Given the description of an element on the screen output the (x, y) to click on. 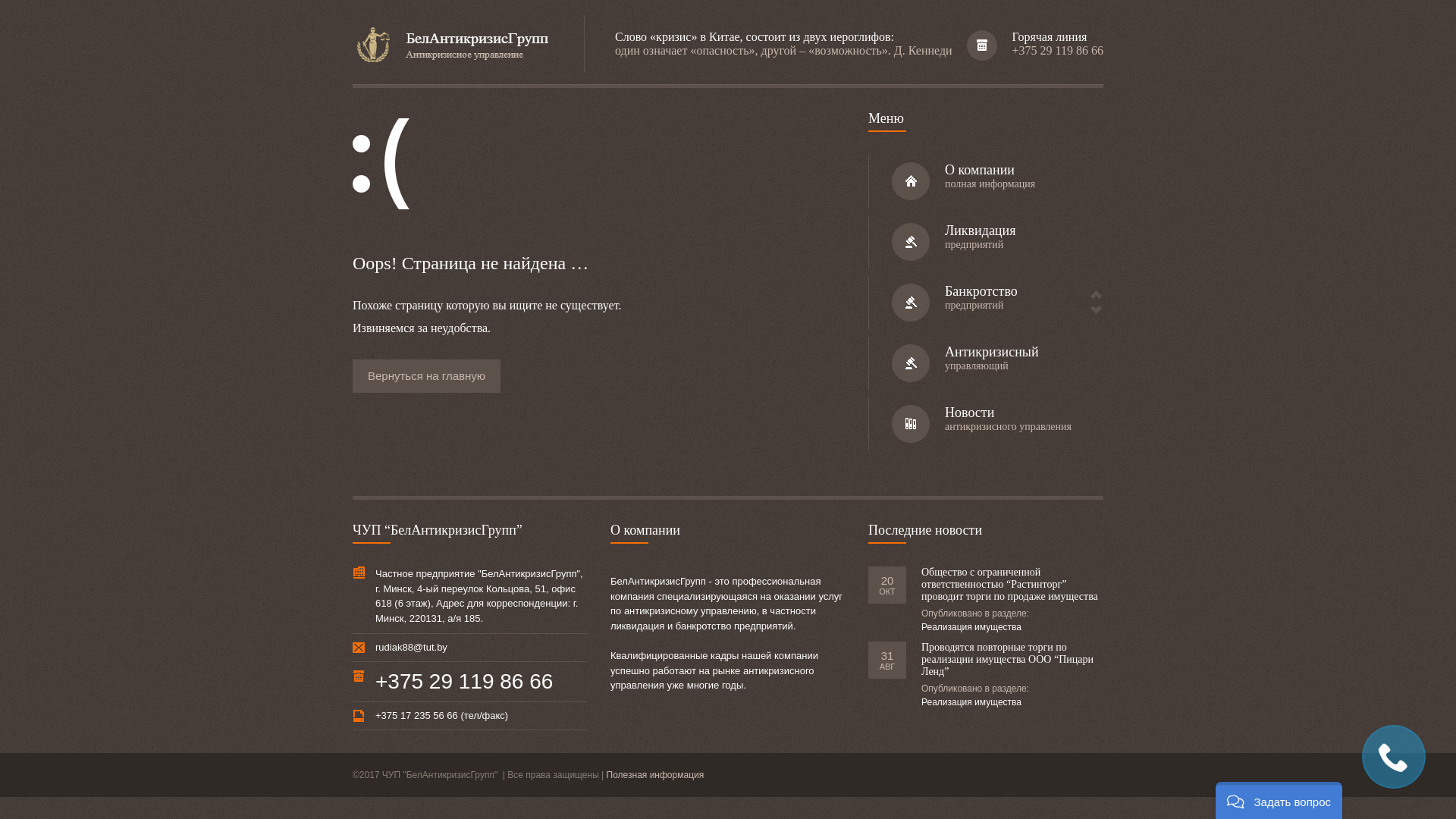
rudiak88@tut.by Element type: text (411, 646)
